Given the description of an element on the screen output the (x, y) to click on. 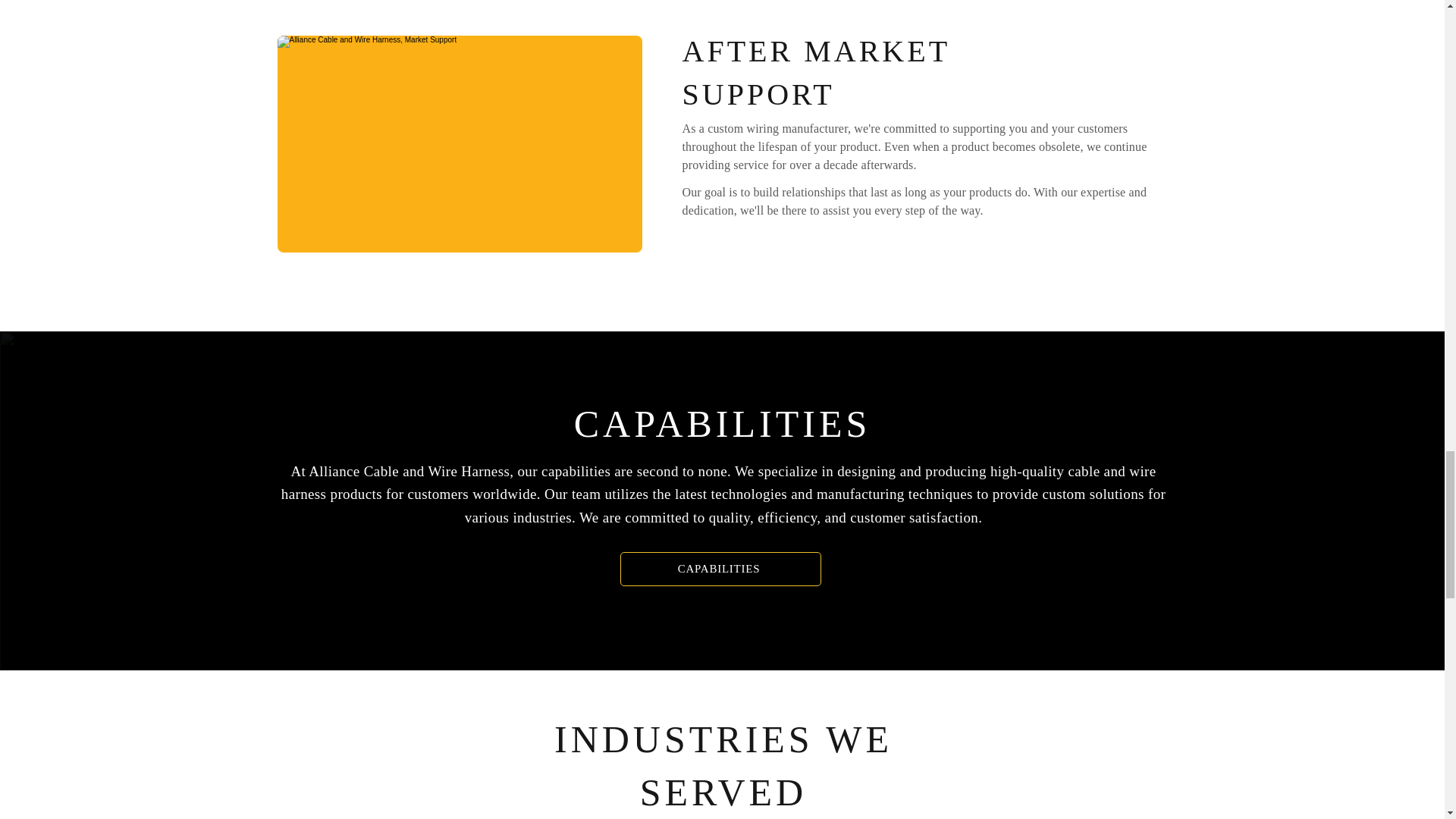
CAPABILITIES (720, 569)
